Given the description of an element on the screen output the (x, y) to click on. 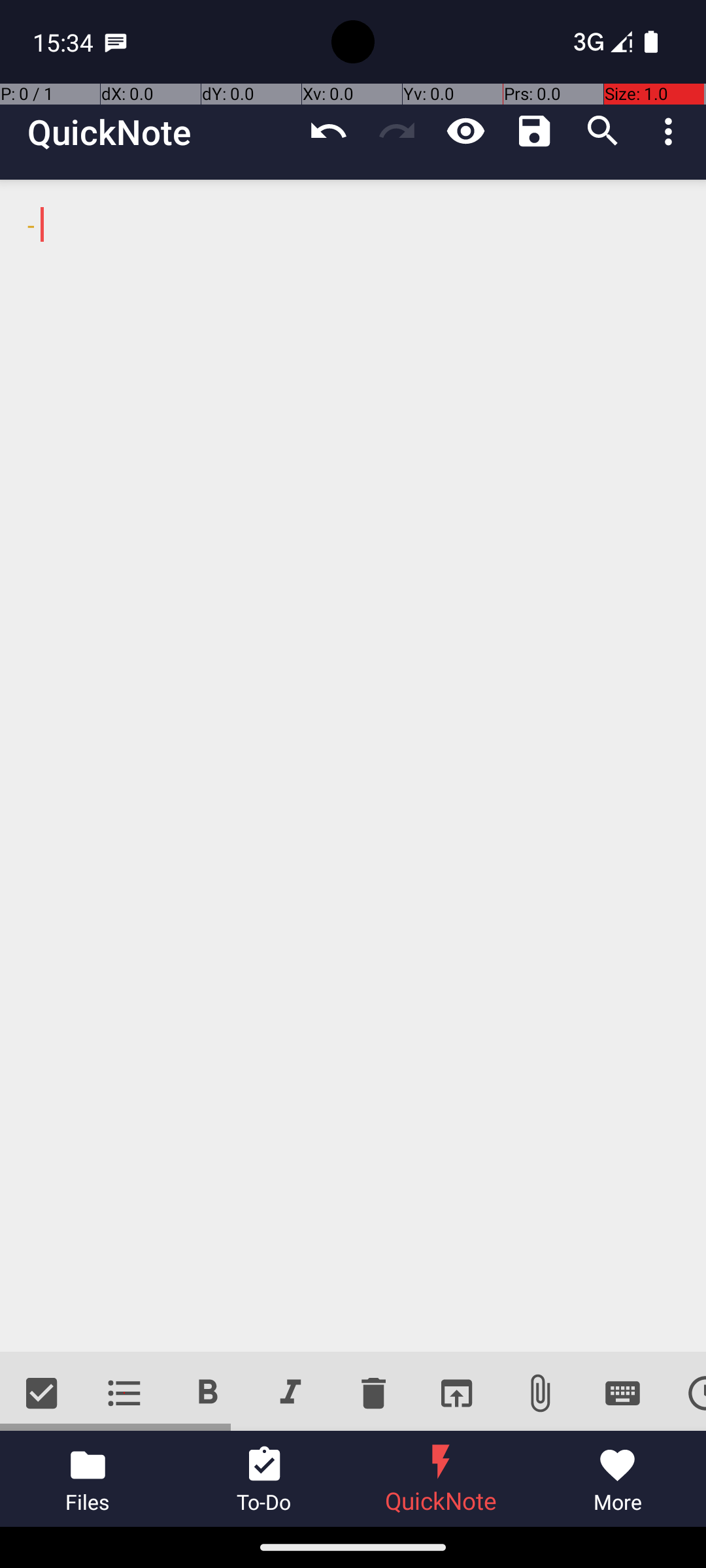
-  Element type: android.widget.EditText (353, 765)
